Given the description of an element on the screen output the (x, y) to click on. 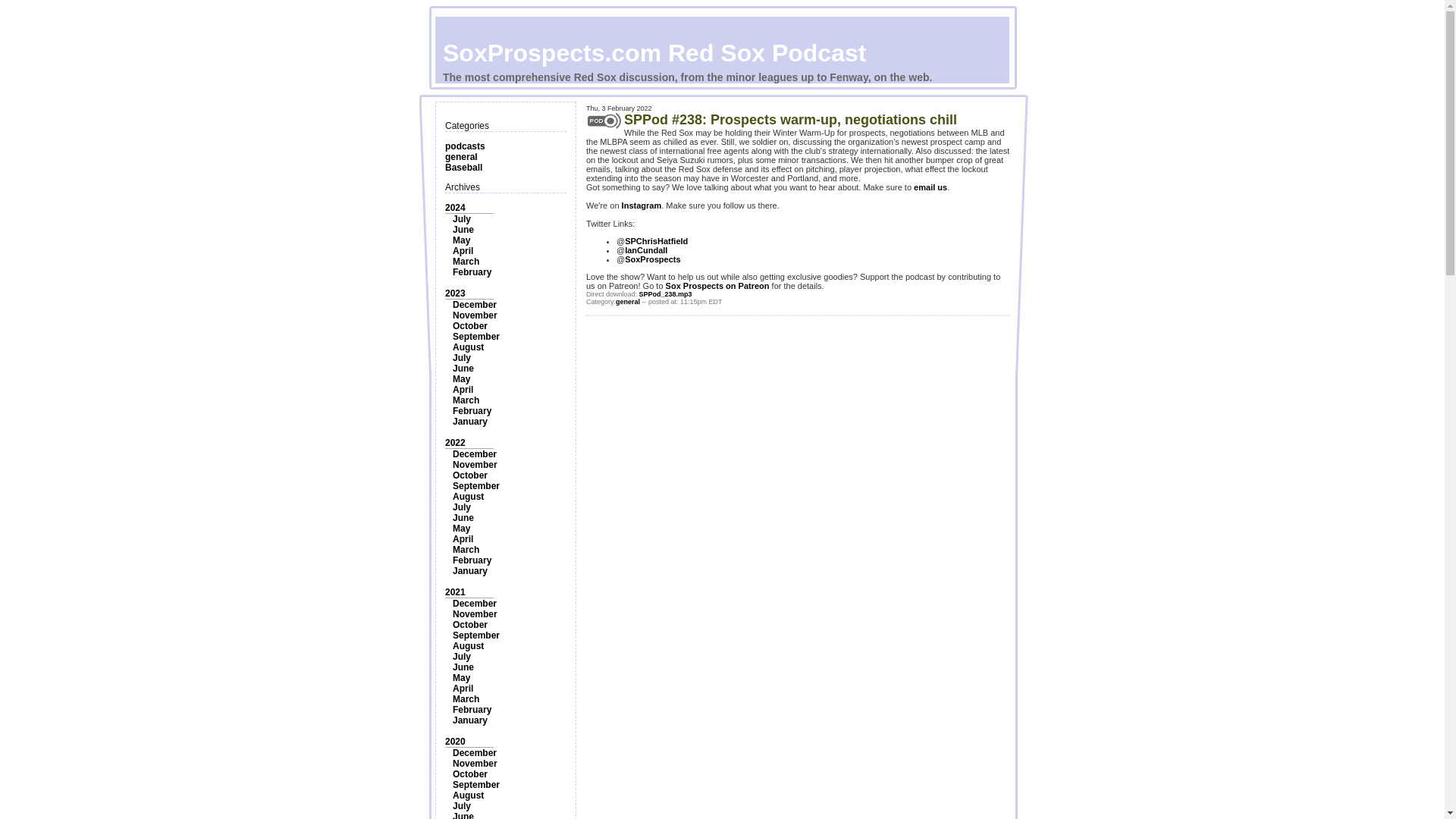
June (463, 229)
February (472, 271)
Baseball (463, 167)
November (474, 614)
August (467, 347)
August (467, 496)
June (463, 517)
April (462, 538)
February (472, 410)
December (474, 304)
